Given the description of an element on the screen output the (x, y) to click on. 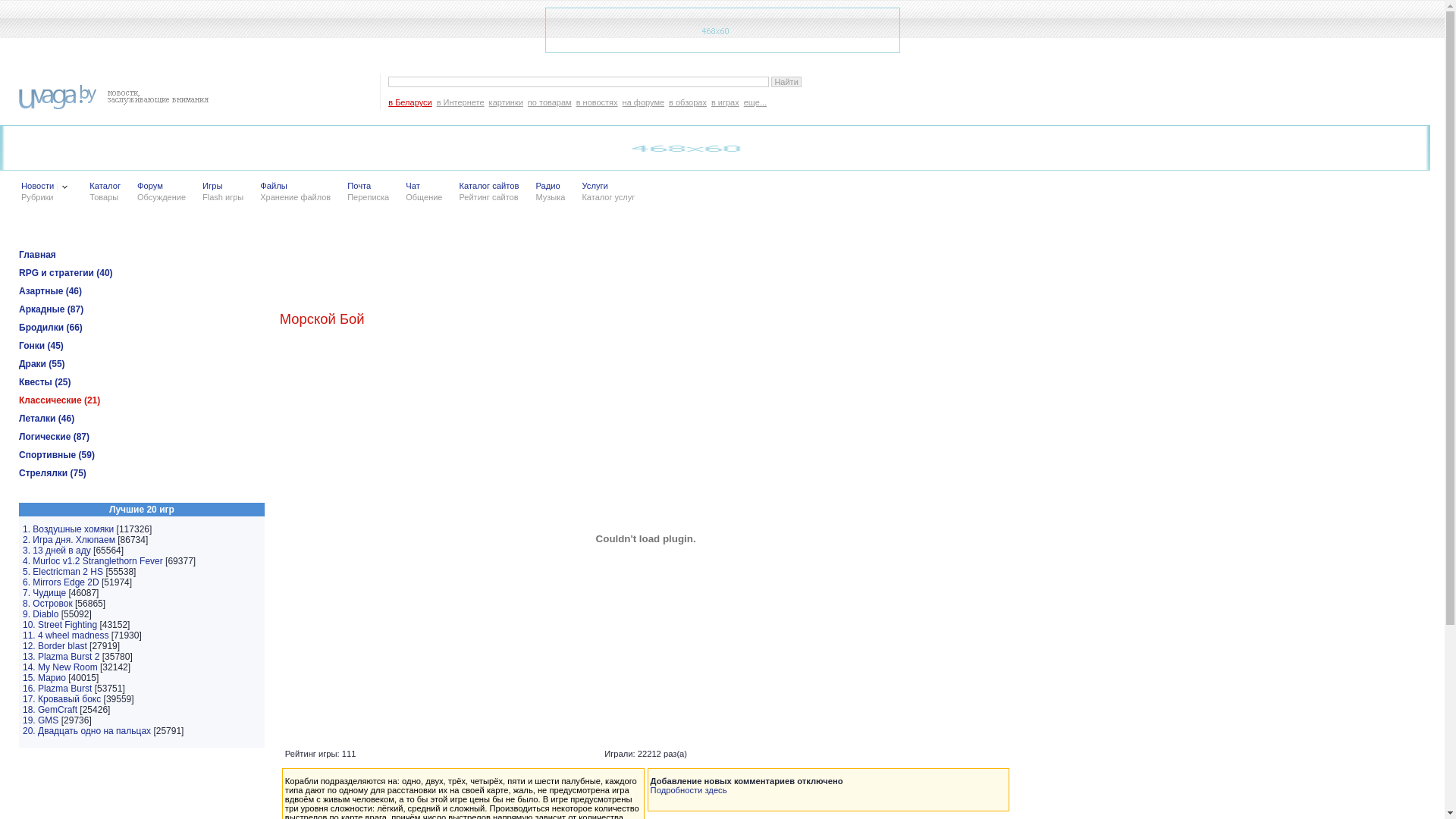
10. Street Fighting Element type: text (59, 624)
11. 4 wheel madness Element type: text (65, 635)
5. Electricman 2 HS Element type: text (62, 571)
9. Diablo Element type: text (40, 613)
13. Plazma Burst 2 Element type: text (60, 656)
Advertisement Element type: hover (553, 259)
19. GMS Element type: text (40, 720)
12. Border blast Element type: text (54, 645)
18. GemCraft Element type: text (49, 709)
6. Mirrors Edge 2D Element type: text (60, 582)
16. Plazma Burst Element type: text (56, 688)
4. Murloc v1.2 Stranglethorn Fever Element type: text (92, 560)
14. My New Room Element type: text (59, 667)
